Given the description of an element on the screen output the (x, y) to click on. 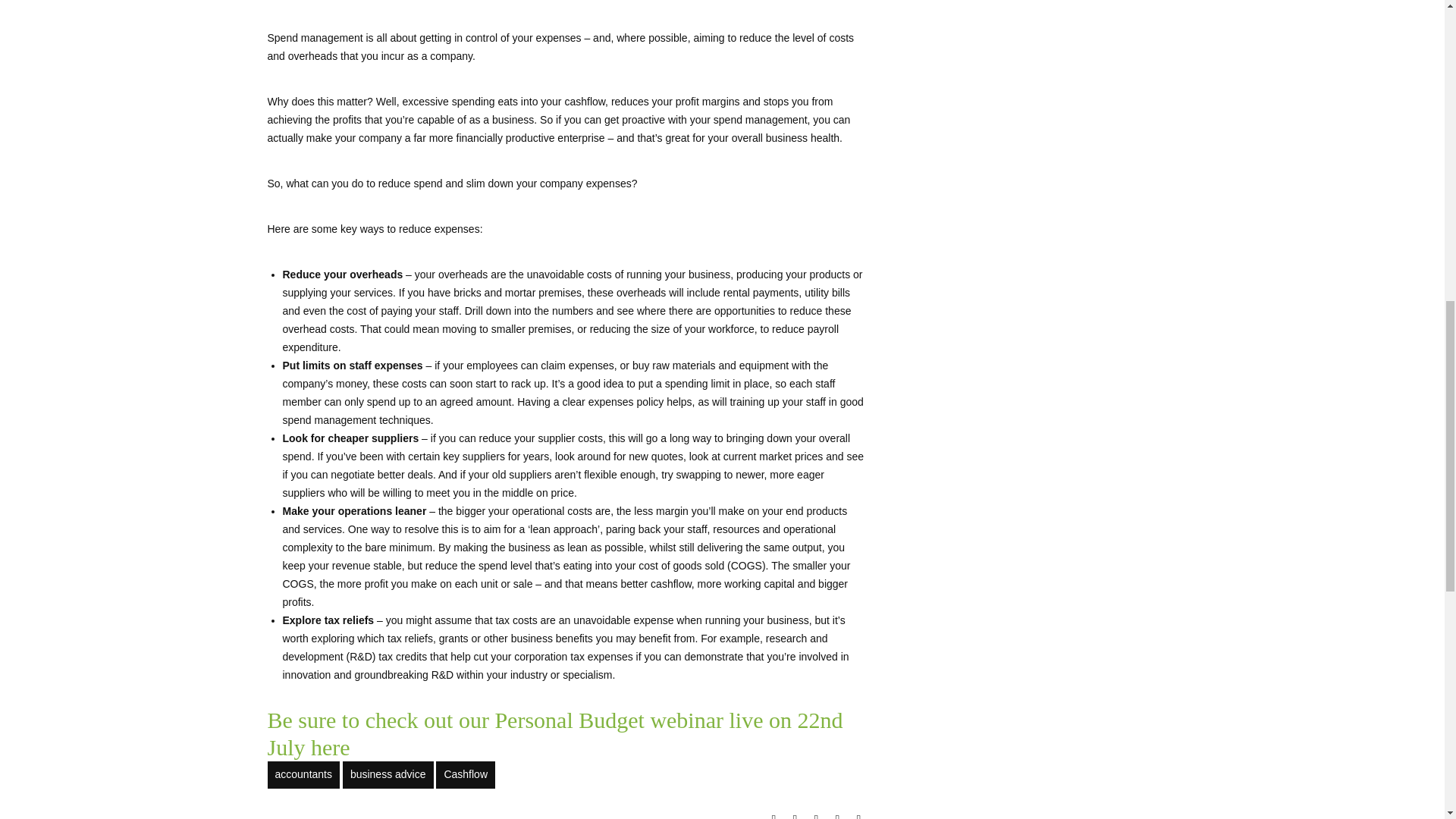
accountants (302, 774)
business advice (387, 774)
Cashflow (465, 774)
